Given the description of an element on the screen output the (x, y) to click on. 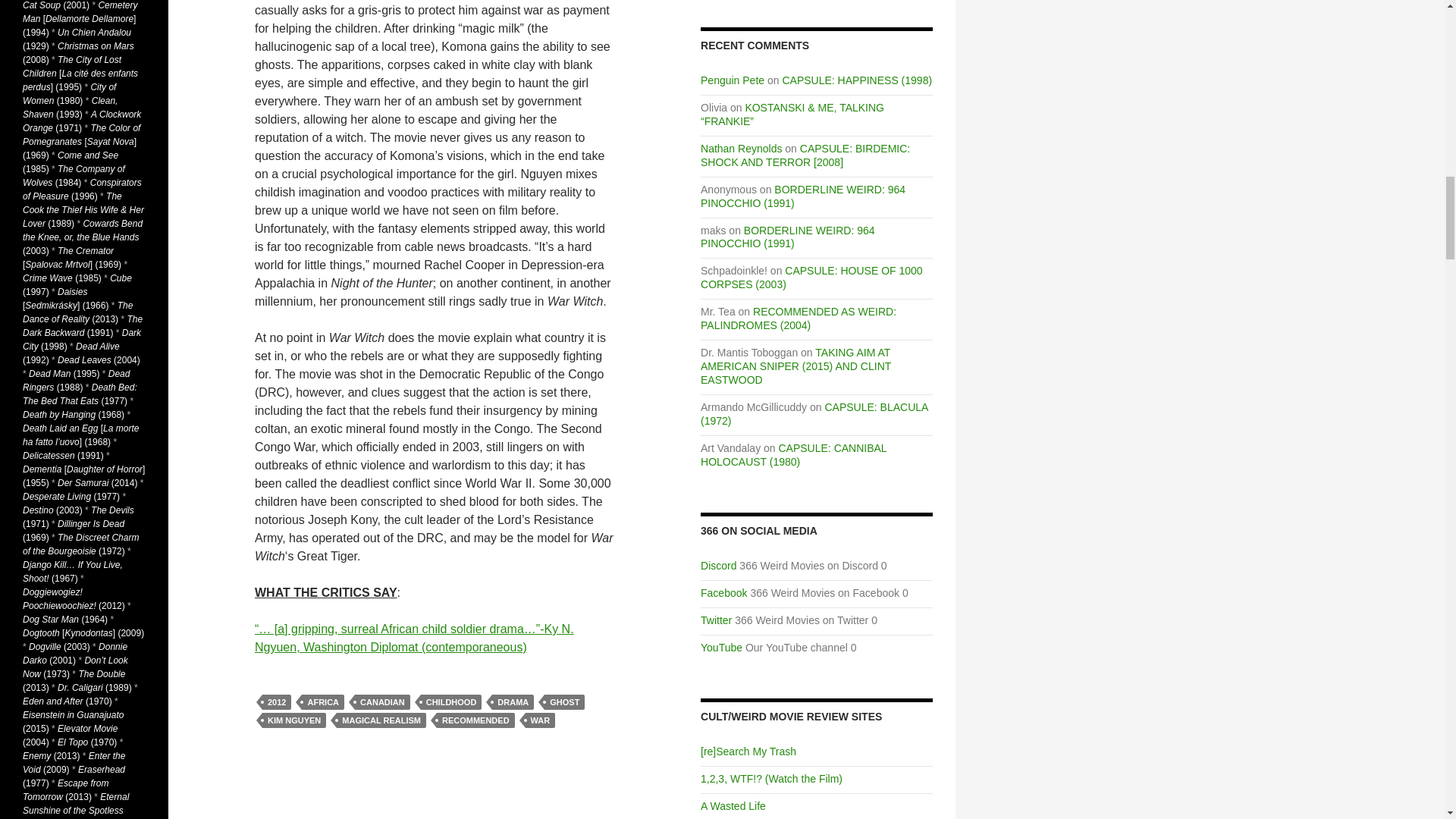
RECOMMENDED (475, 720)
CANADIAN (382, 702)
MAGICAL REALISM (381, 720)
2012 (276, 702)
GHOST (564, 702)
WAR (540, 720)
366 Weird Movies on Twitter (716, 620)
CHILDHOOD (450, 702)
KIM NGUYEN (294, 720)
